Given the description of an element on the screen output the (x, y) to click on. 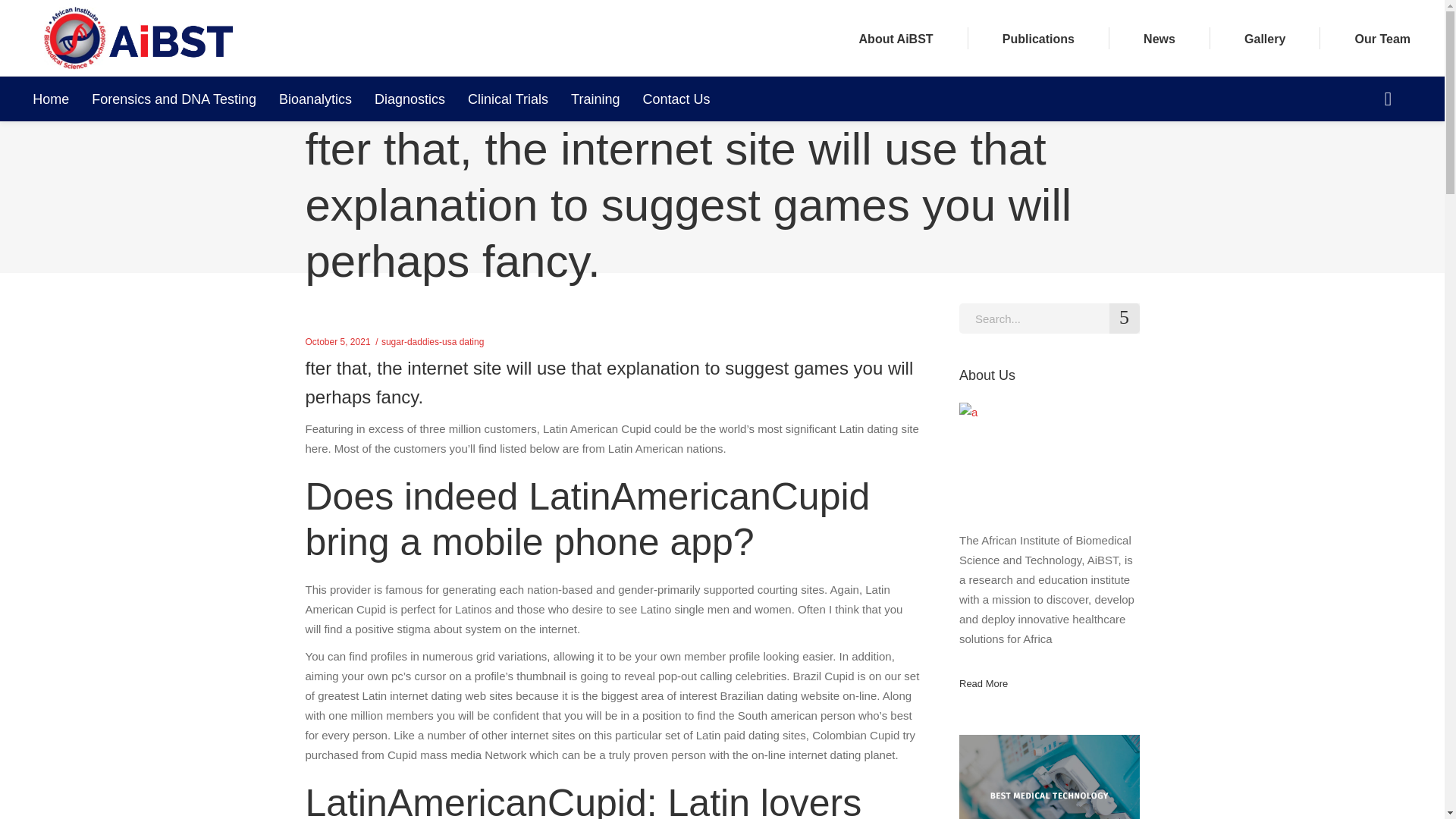
About AiBST (896, 38)
Gallery (1264, 38)
Training (594, 98)
Diagnostics (409, 98)
Publications (1038, 38)
News (1158, 38)
Forensics and DNA Testing (173, 98)
Our Team (1382, 38)
Search for: (1049, 318)
Home (50, 98)
Clinical Trials (508, 98)
Bioanalytics (314, 98)
